Given the description of an element on the screen output the (x, y) to click on. 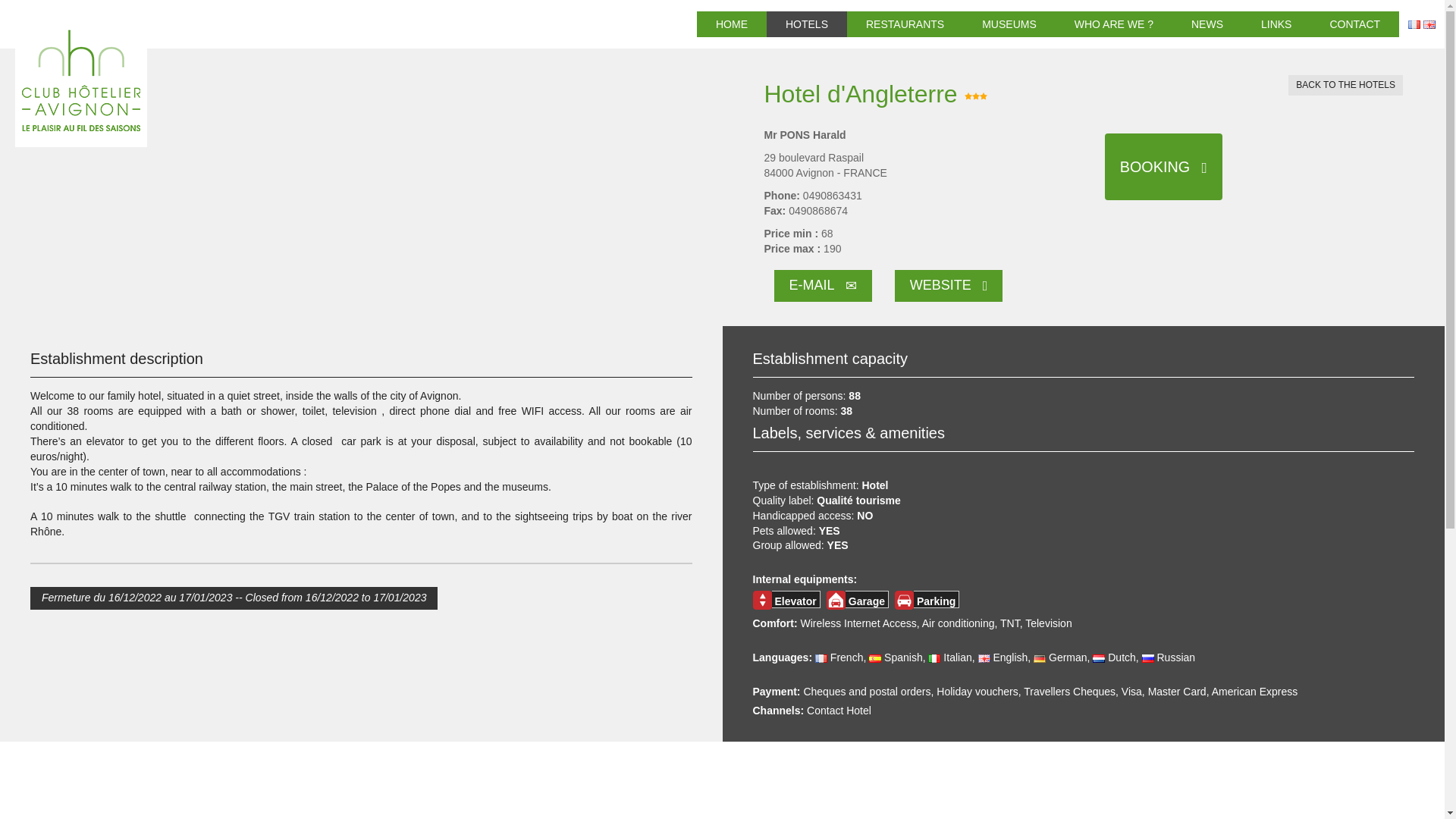
WHO ARE WE ? (1113, 23)
Elevator (761, 599)
WEBSITE (949, 286)
BACK TO THE HOTELS (1345, 85)
MUSEUMS (1008, 23)
BOOKING (1164, 166)
HOTELS (807, 23)
NEWS (1206, 23)
LINKS (1275, 23)
E-MAIL (821, 286)
